Given the description of an element on the screen output the (x, y) to click on. 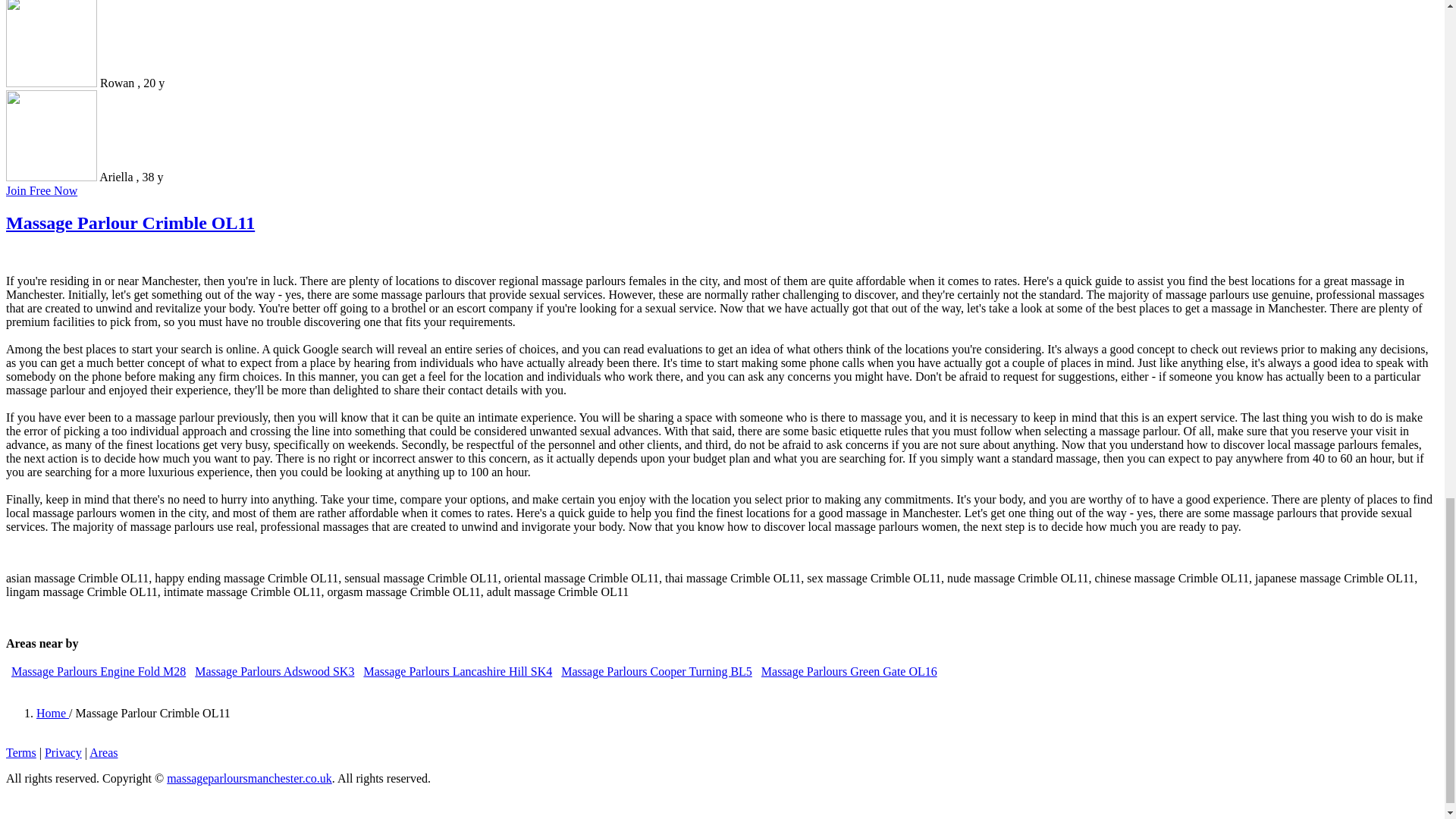
Massage Parlours Engine Fold M28 (98, 671)
Areas (102, 752)
massageparloursmanchester.co.uk (249, 778)
Privacy (63, 752)
Massage Parlour Crimble OL11 (129, 222)
Privacy (63, 752)
Terms (20, 752)
Massage Parlours Lancashire Hill SK4 (456, 671)
Join (41, 190)
Areas (102, 752)
